Given the description of an element on the screen output the (x, y) to click on. 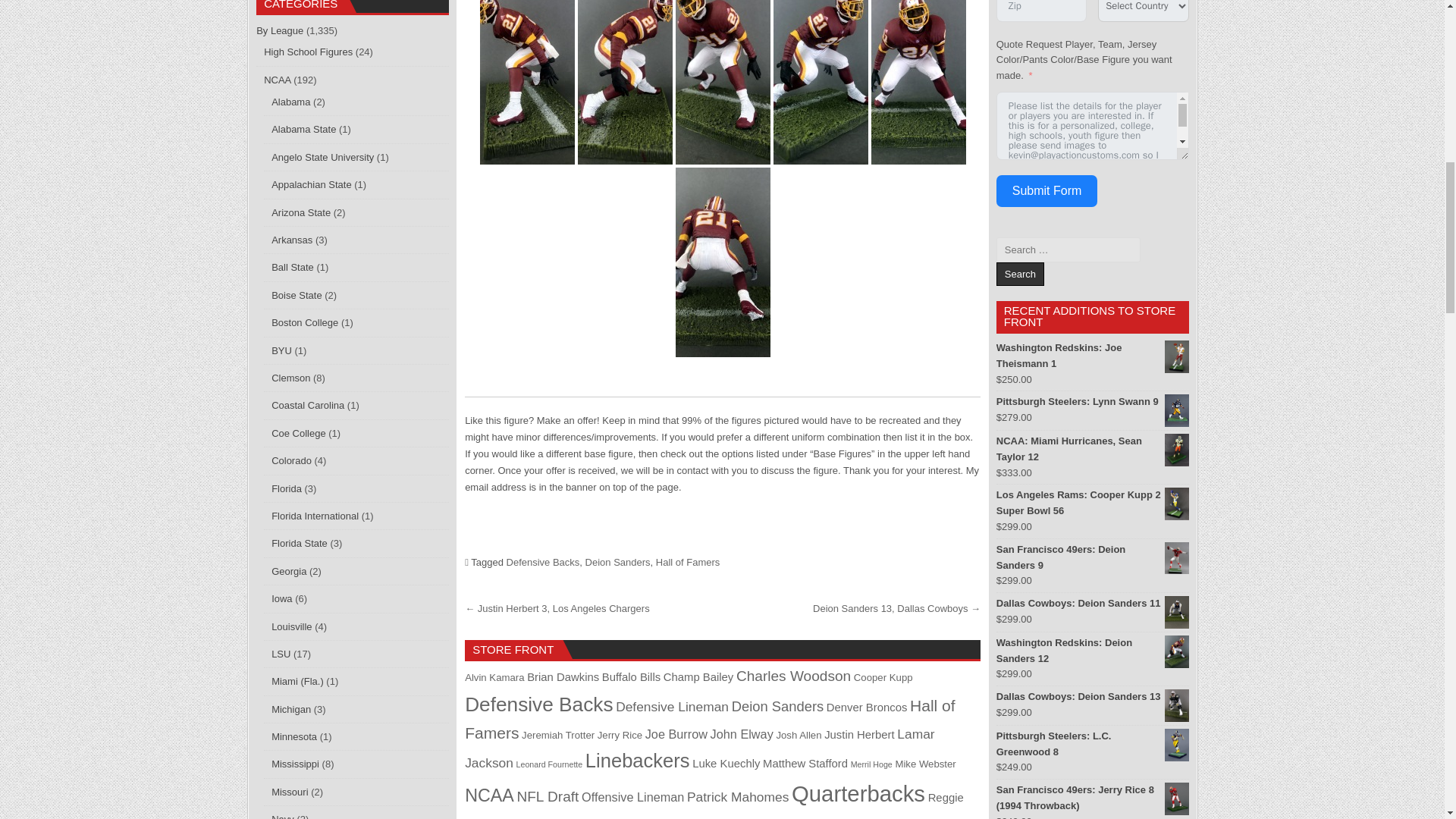
Search (1019, 273)
Search (1019, 273)
